Given the description of an element on the screen output the (x, y) to click on. 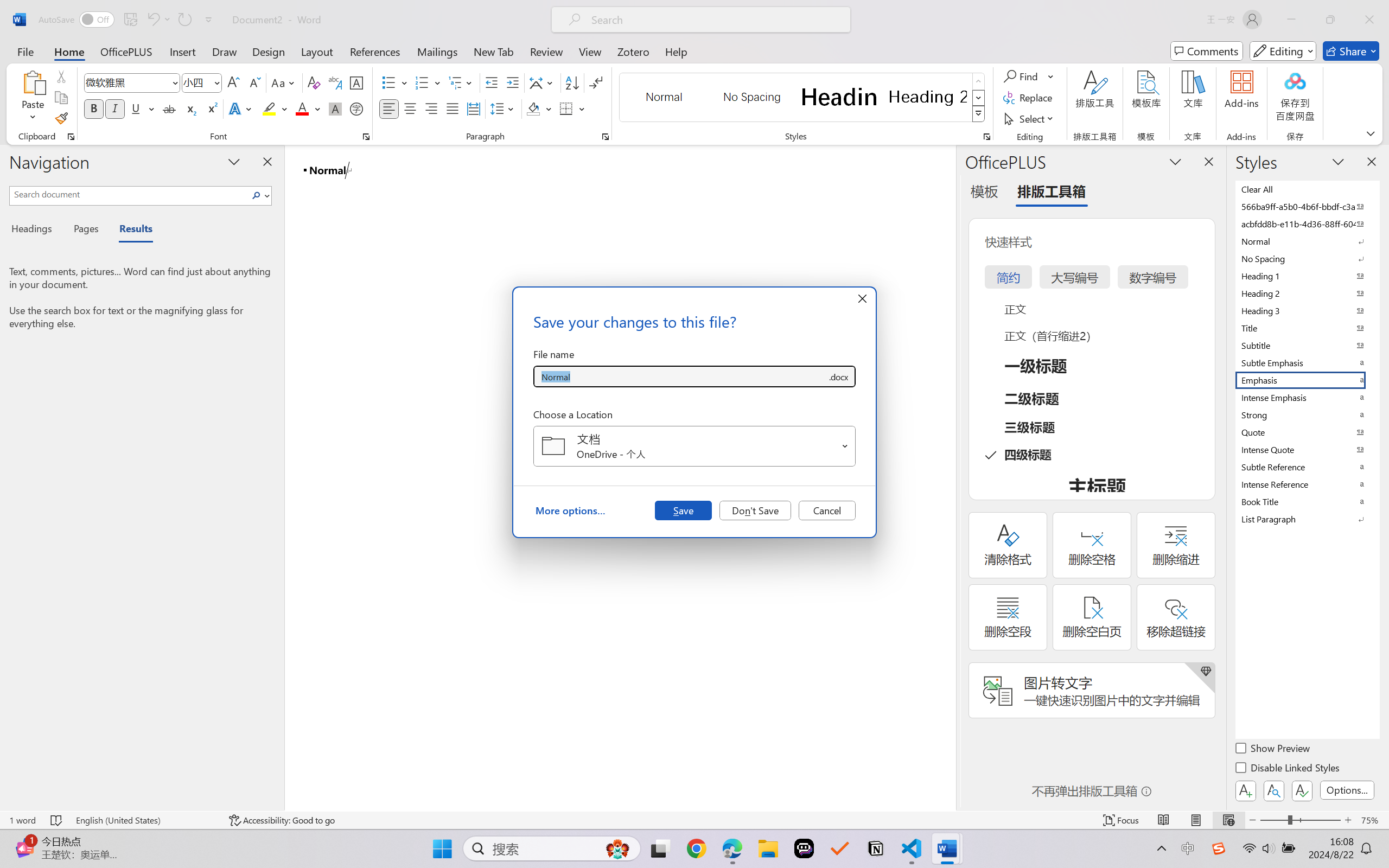
Undo Style (158, 19)
Shading RGB(0, 0, 0) (533, 108)
Undo Style (152, 19)
Cut (60, 75)
Close (1369, 19)
Class: Image (1218, 847)
Borders (566, 108)
Task Pane Options (1175, 161)
OfficePLUS (126, 51)
Ribbon Display Options (1370, 132)
Increase Indent (512, 82)
